Given the description of an element on the screen output the (x, y) to click on. 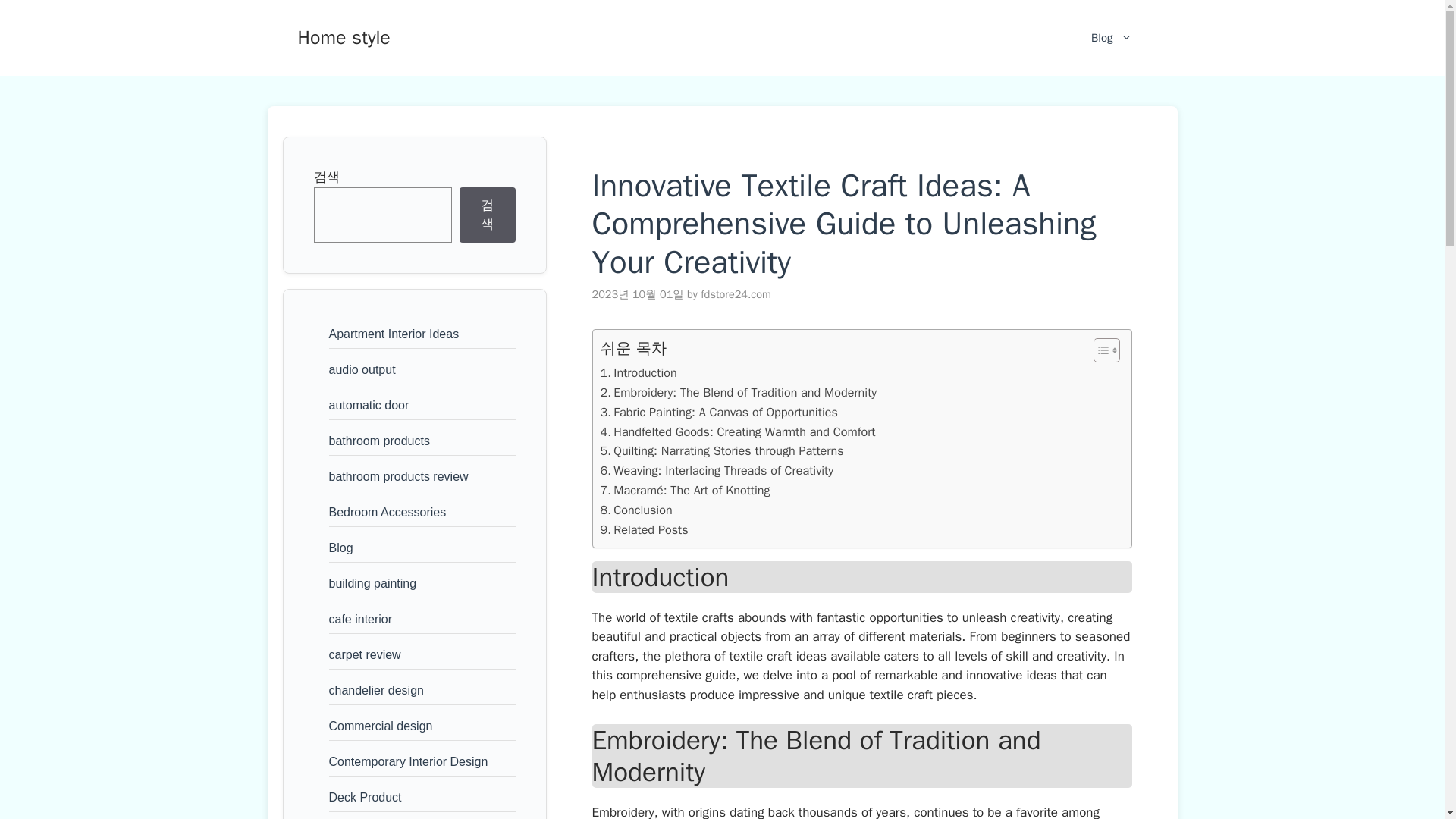
Introduction (638, 373)
fdstore24.com (735, 294)
Handfelted Goods: Creating Warmth and Comfort (737, 432)
Embroidery: The Blend of Tradition and Modernity (738, 392)
Related Posts (643, 529)
Home style (343, 37)
Introduction (638, 373)
Fabric Painting: A Canvas of Opportunities (718, 412)
Quilting: Narrating Stories through Patterns (721, 451)
Quilting: Narrating Stories through Patterns (721, 451)
